Given the description of an element on the screen output the (x, y) to click on. 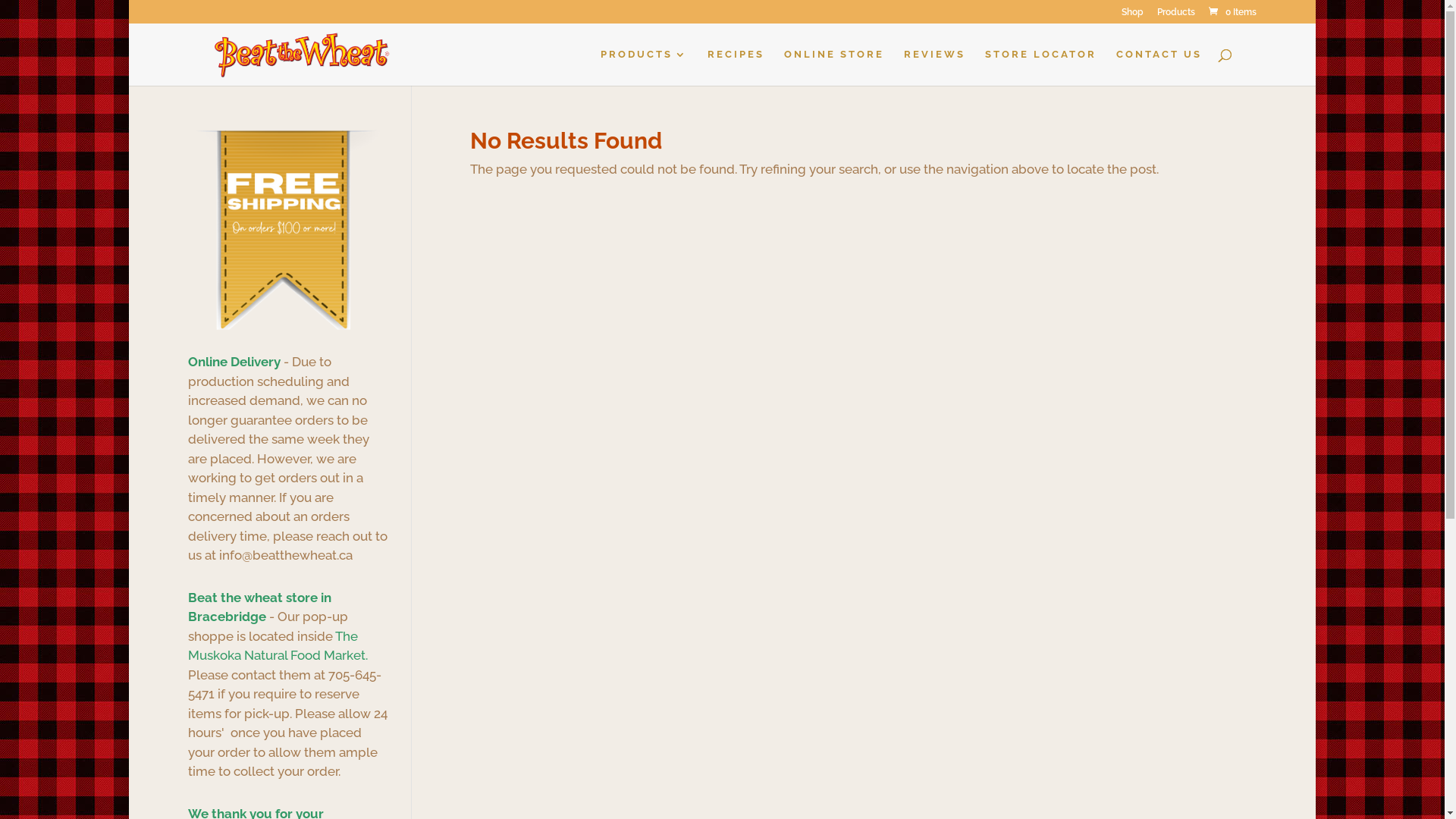
CONTACT US Element type: text (1158, 67)
0 Items Element type: text (1231, 11)
ONLINE STORE Element type: text (834, 67)
Products Element type: text (1176, 15)
REVIEWS Element type: text (934, 67)
Shop Element type: text (1132, 15)
PRODUCTS Element type: text (643, 67)
STORE LOCATOR Element type: text (1040, 67)
RECIPES Element type: text (735, 67)
